Given the description of an element on the screen output the (x, y) to click on. 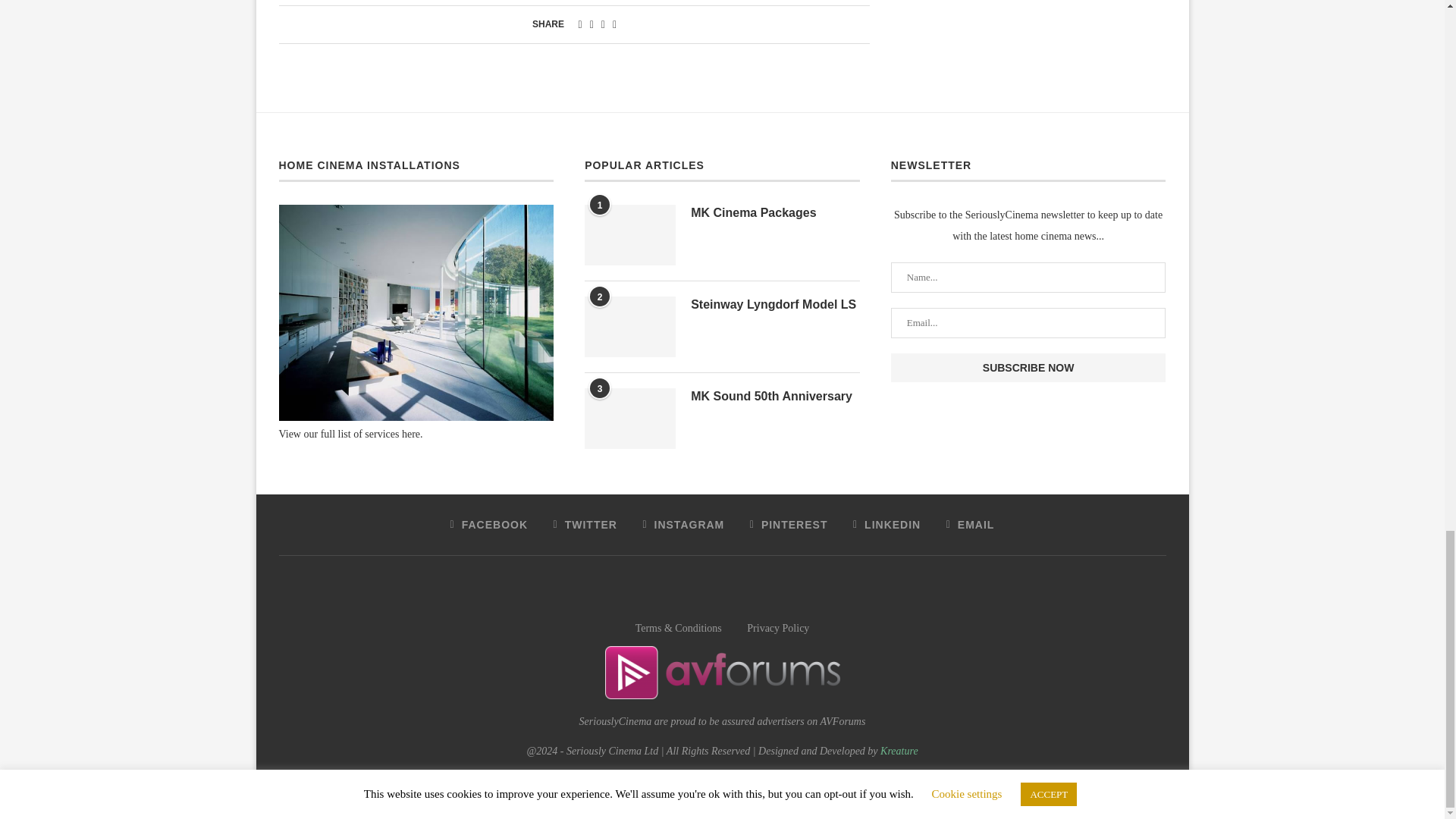
Steinway Lyngdorf Model LS (630, 326)
MK Cinema Packages (630, 234)
MK Sound 50th Anniversary (630, 418)
Subscribe Now (1028, 367)
MK Sound 50th Anniversary (775, 396)
MK Cinema Packages (775, 212)
Steinway Lyngdorf Model LS (775, 304)
